Given the description of an element on the screen output the (x, y) to click on. 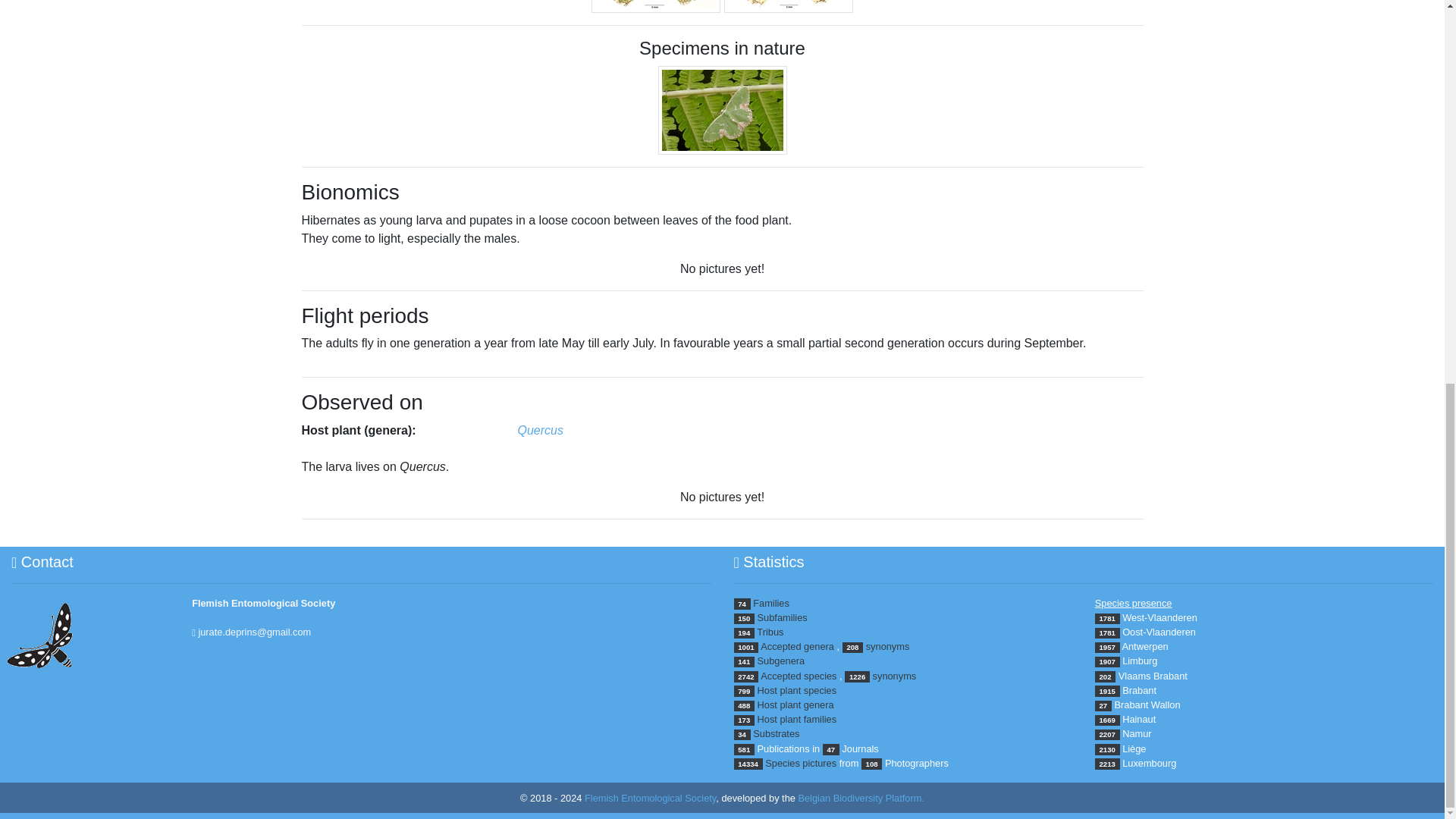
Subgenera (781, 660)
Belgian Biodiversity Platform. (860, 797)
Accepted species (797, 675)
Quercus (539, 430)
Host plant genera (795, 704)
Flemish Entomological Society (650, 797)
Host plant families (797, 718)
synonyms (888, 645)
Host plant species (797, 690)
Substrates (775, 733)
Families (770, 603)
synonyms (894, 675)
Species pictures (800, 763)
Tribus (770, 632)
Accepted genera (797, 645)
